Given the description of an element on the screen output the (x, y) to click on. 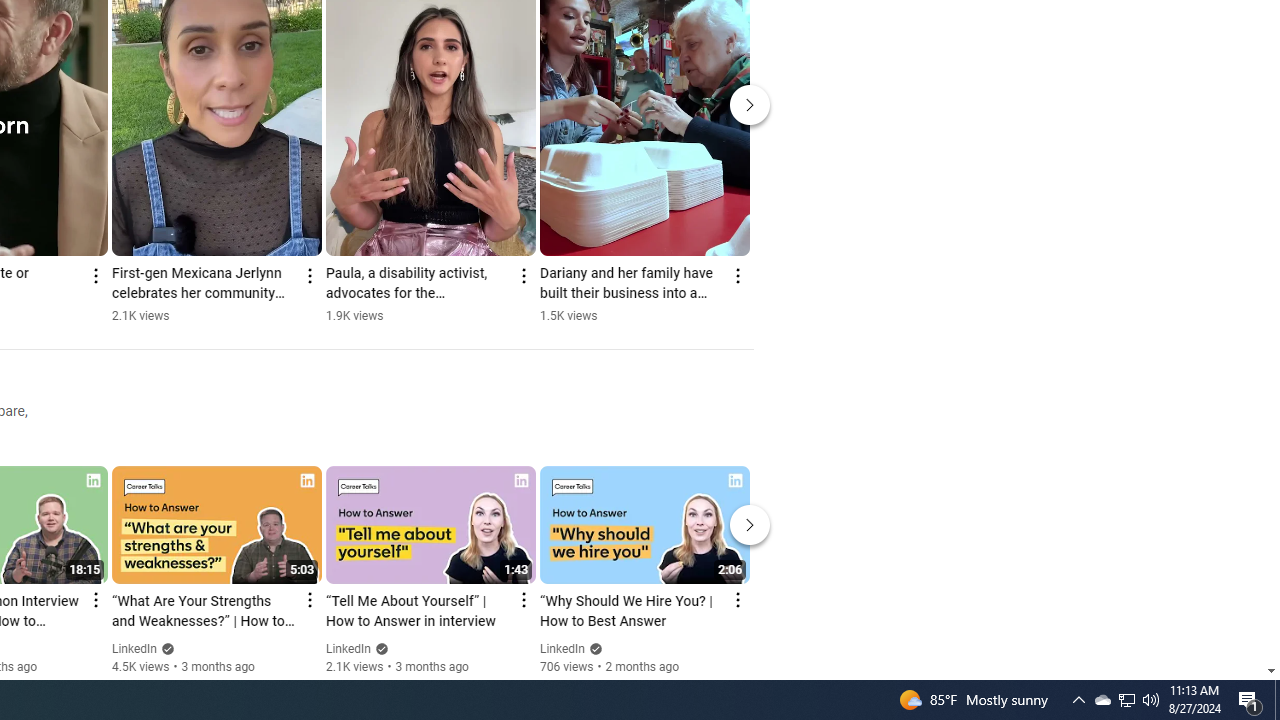
LinkedIn (562, 649)
More actions (736, 276)
